Given the description of an element on the screen output the (x, y) to click on. 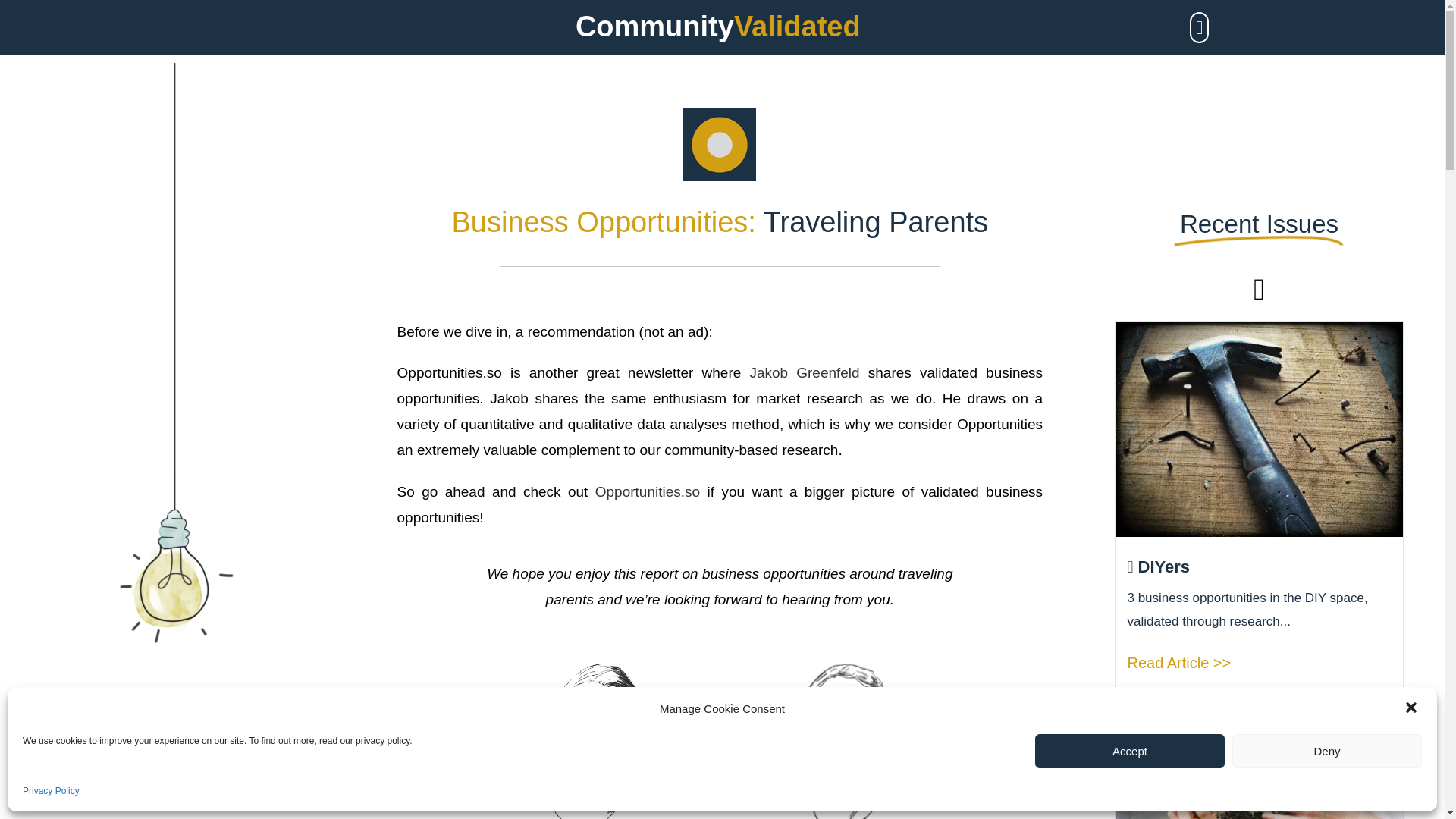
CommunityValidated (717, 26)
Privacy Policy (51, 791)
Opportunities.so (647, 491)
Jakob Greenfeld (804, 372)
Accept (1129, 750)
Deny (1326, 750)
